Given the description of an element on the screen output the (x, y) to click on. 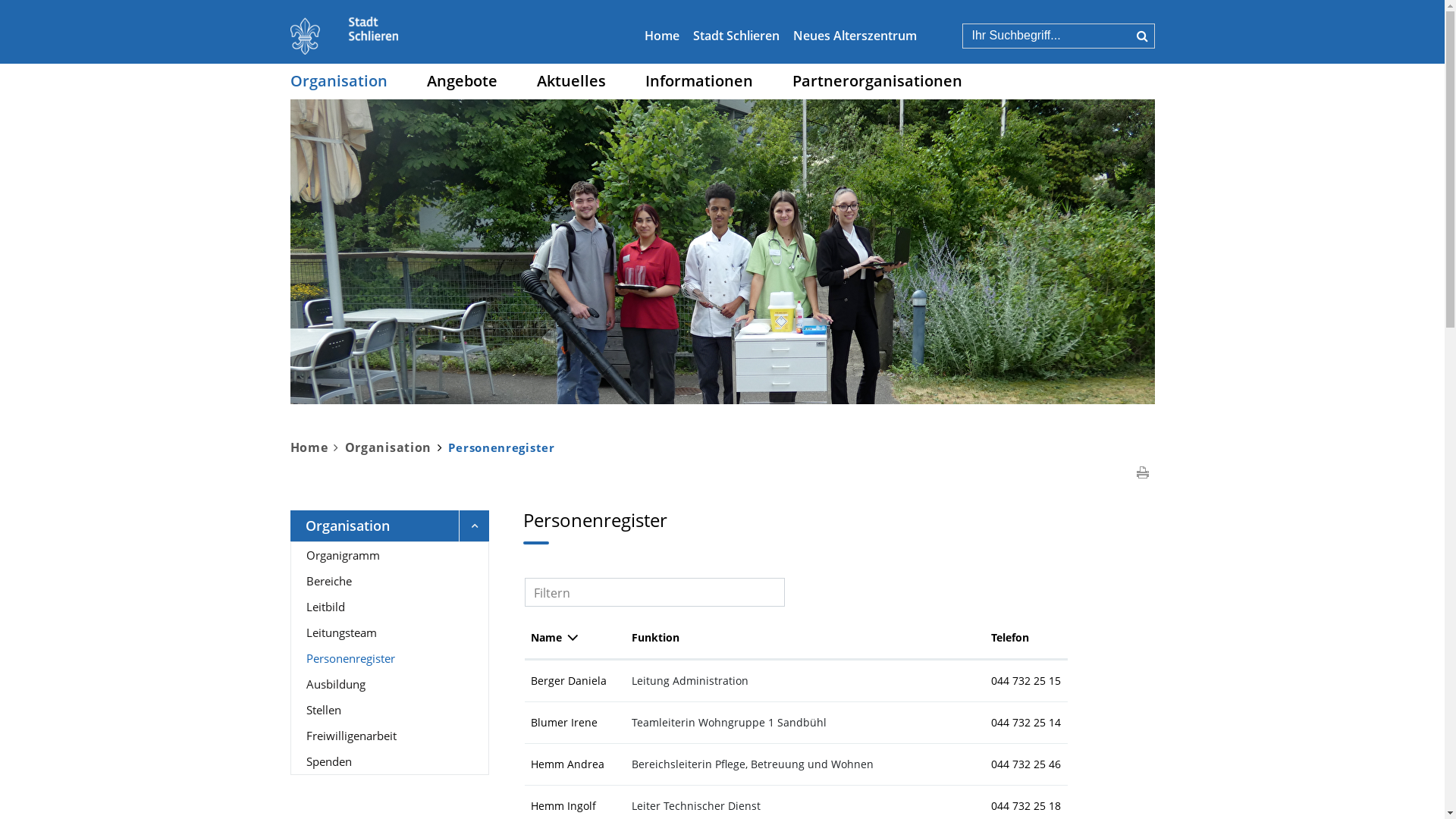
Bereiche Element type: text (390, 580)
Neues Alterszentrum Element type: text (854, 35)
Suche Element type: text (1141, 35)
Blumer Irene Element type: text (563, 722)
Stadt Schlieren Element type: text (736, 35)
Organisation Element type: text (337, 80)
Berger Daniela Element type: text (568, 680)
Partnerorganisationen Element type: text (876, 80)
Informationen Element type: text (698, 80)
Stellen Element type: text (390, 709)
044 732 25 14 Element type: text (1025, 722)
Angebote Element type: text (461, 80)
044 732 25 18 Element type: text (1025, 805)
044 732 25 46 Element type: text (1025, 763)
044 732 25 15 Element type: text (1025, 680)
Spenden Element type: text (390, 761)
Hemm Andrea Element type: text (567, 763)
Aktuelles Element type: text (570, 80)
Organigramm Element type: text (390, 554)
Ausbildung Element type: text (390, 683)
Organisation Element type: text (389, 525)
Home Element type: text (661, 35)
Hemm Ingolf Element type: text (563, 805)
Home Element type: text (316, 447)
Organisation Element type: text (388, 447)
Leitungsteam Element type: text (390, 632)
Leitbild Element type: text (390, 606)
Freiwilligenarbeit Element type: text (390, 735)
